Given the description of an element on the screen output the (x, y) to click on. 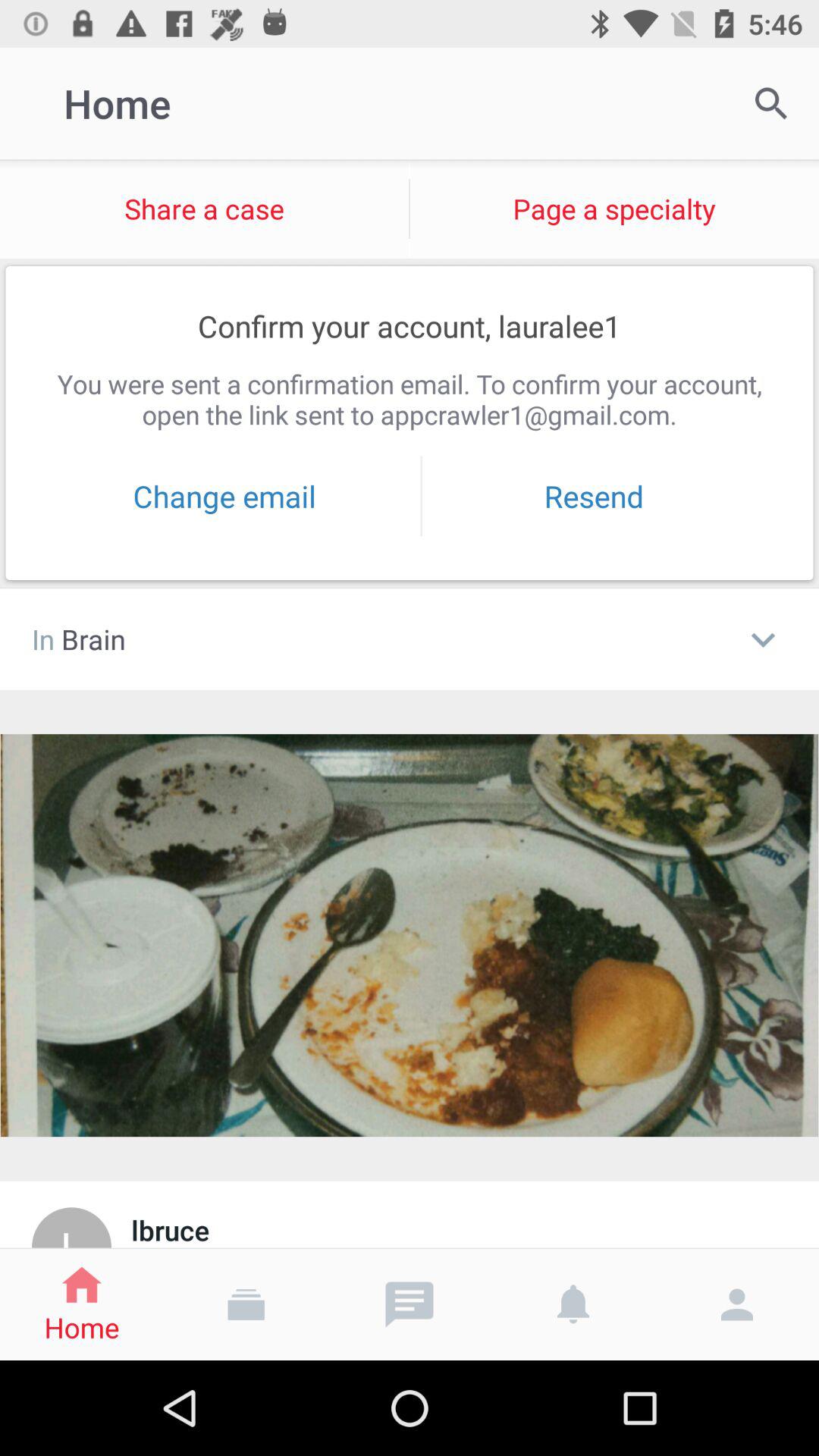
open the icon above confirm your account (204, 208)
